Given the description of an element on the screen output the (x, y) to click on. 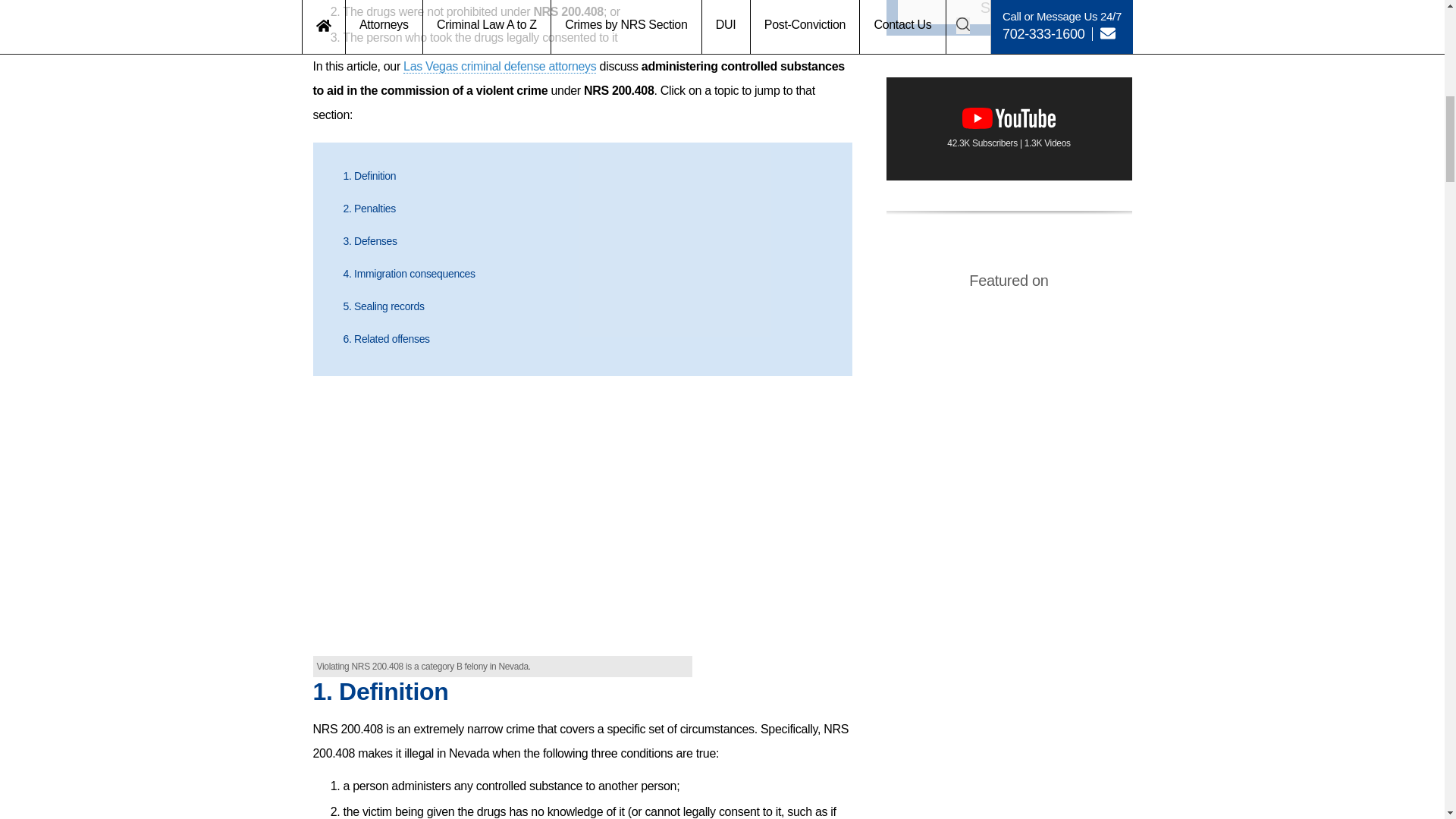
6. Related offenses (385, 338)
1. Definition (369, 175)
Submit (1009, 12)
2. Penalties (368, 208)
5. Sealing records (382, 306)
Las Vegas criminal defense attorneys (499, 66)
3. Defenses (369, 241)
4. Immigration consequences (408, 273)
